Given the description of an element on the screen output the (x, y) to click on. 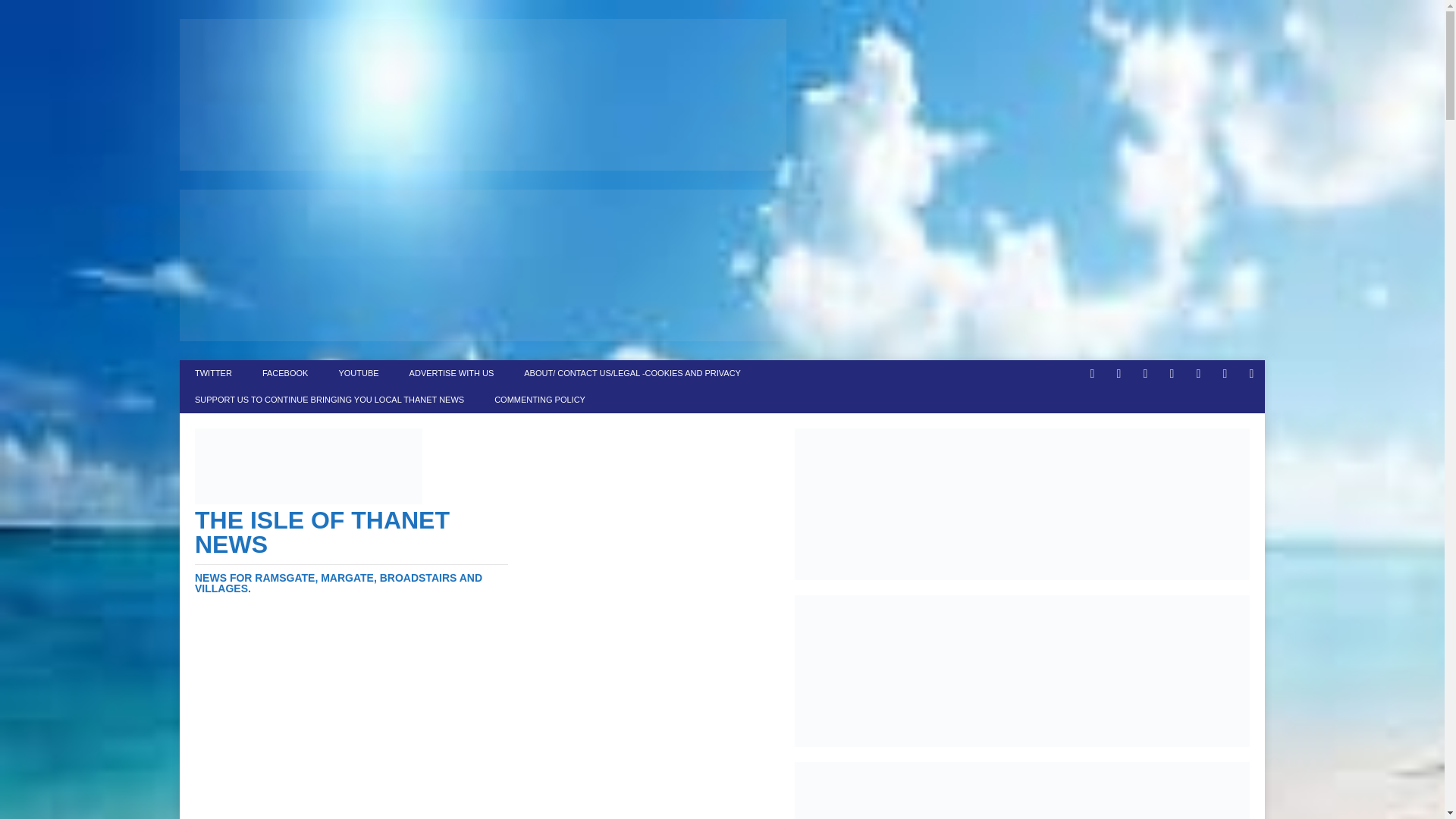
ADVERTISE WITH US (451, 373)
COMMENTING POLICY (539, 399)
SUPPORT US TO CONTINUE BRINGING YOU LOCAL THANET NEWS (329, 399)
YOUTUBE (358, 373)
FACEBOOK (285, 373)
TWITTER (213, 373)
The Isle Of Thanet News (351, 491)
